Given the description of an element on the screen output the (x, y) to click on. 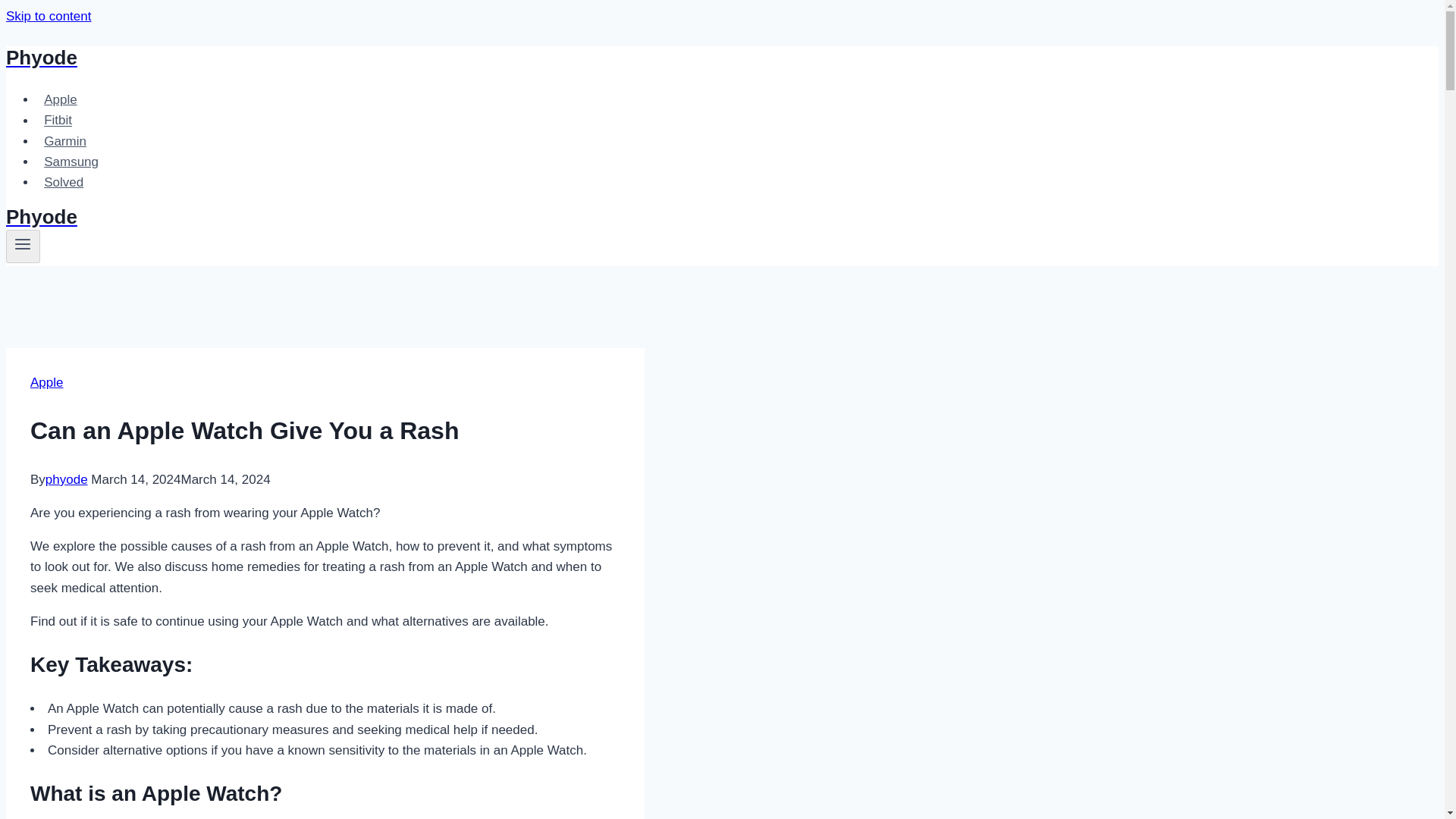
phyode (66, 479)
Skip to content (47, 16)
Skip to content (47, 16)
Garmin (65, 141)
Samsung (71, 161)
Toggle Menu (22, 245)
Phyode (494, 57)
Toggle Menu (22, 244)
Apple (60, 99)
Phyode (494, 217)
